Given the description of an element on the screen output the (x, y) to click on. 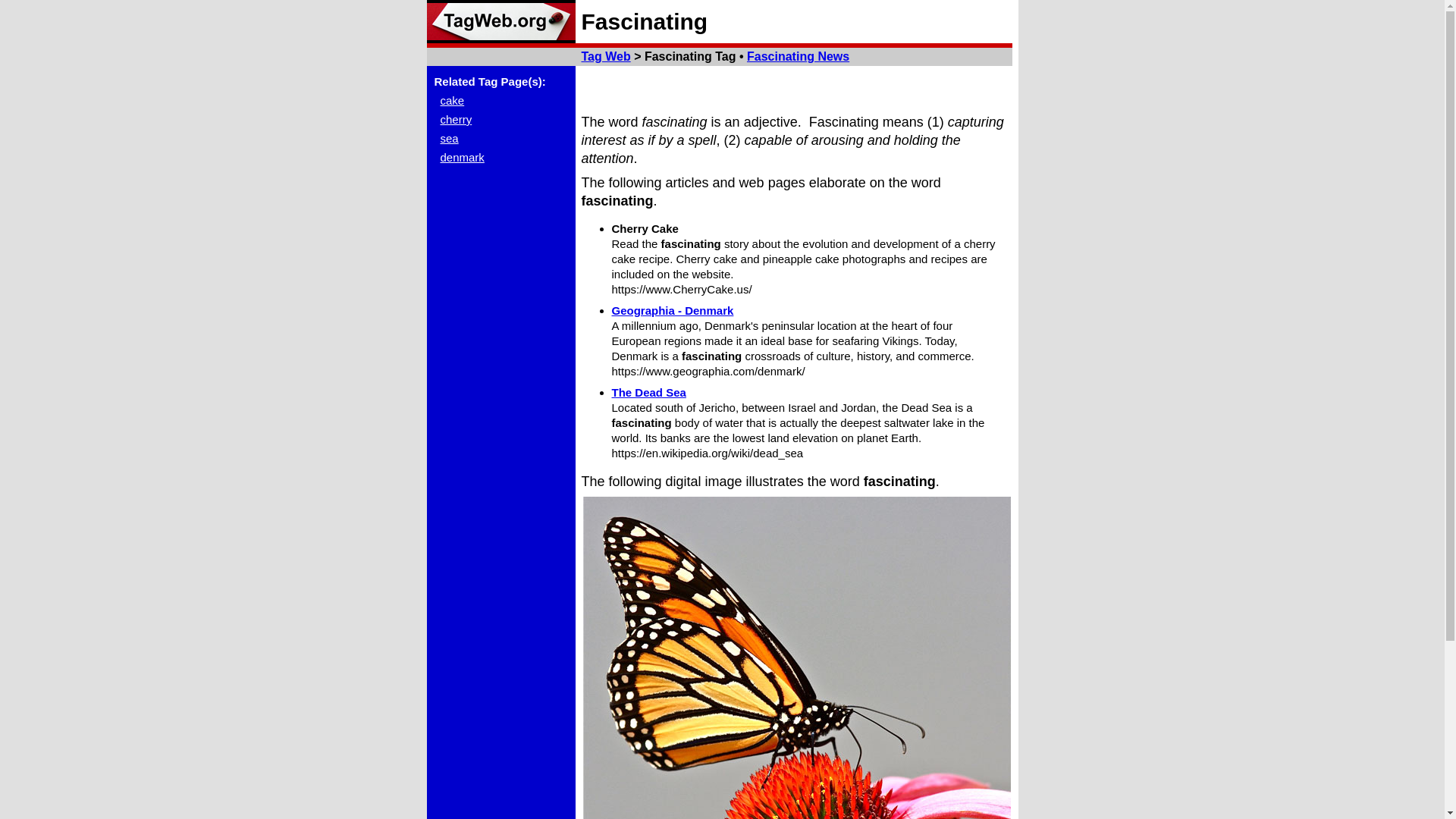
Fascinating News (797, 56)
The Dead Sea (648, 391)
cake (451, 100)
Geographia - Denmark (672, 309)
sea (448, 137)
Fascinating News (797, 56)
cherry (455, 119)
Tag Web (605, 56)
denmark (461, 156)
Tag Web (500, 21)
